Given the description of an element on the screen output the (x, y) to click on. 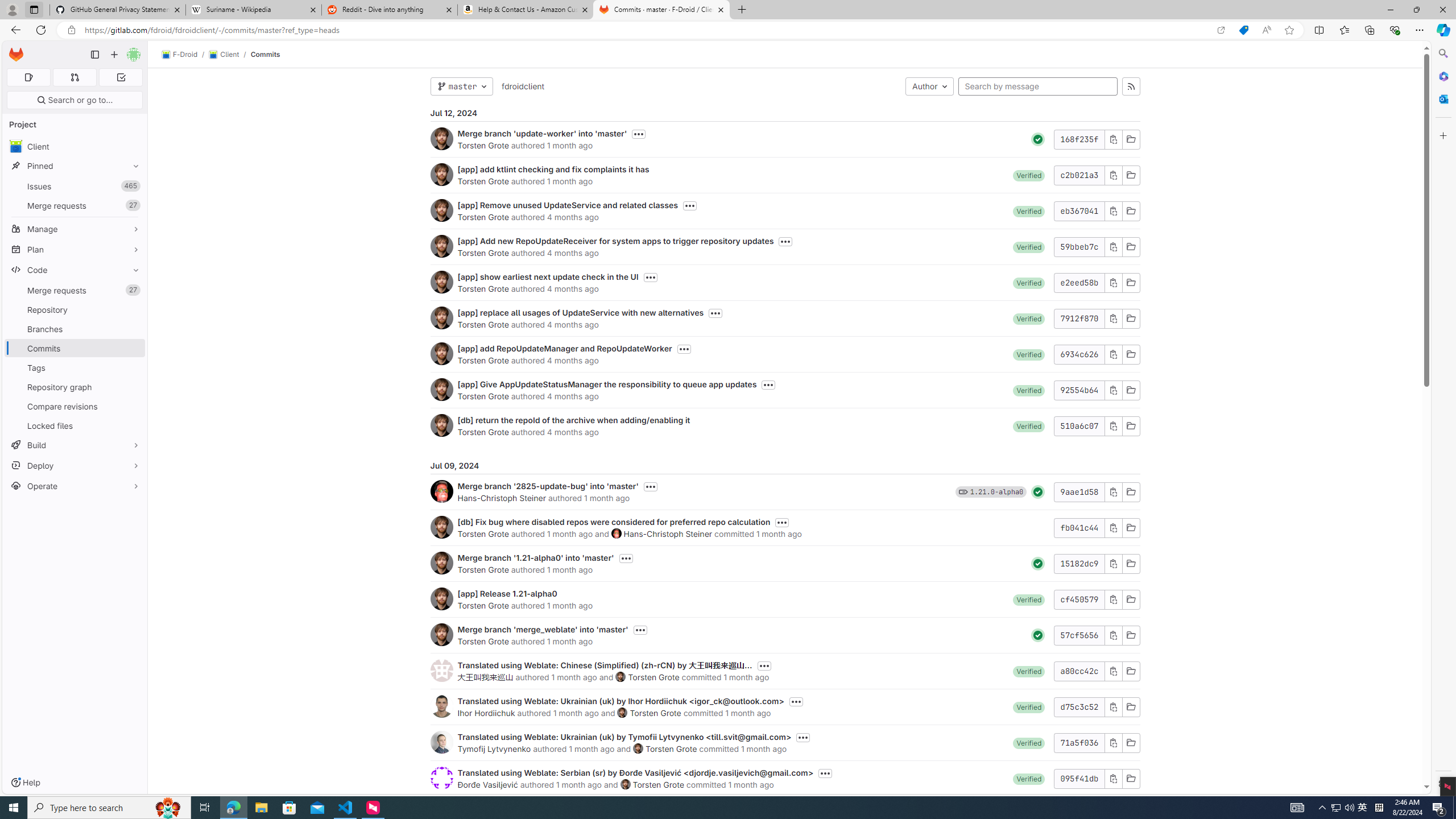
Browse Files (1130, 778)
Tymofij Lytvynenko (494, 748)
Locked files (74, 425)
Commits (265, 53)
Merge branch 'update-worker' into 'master' (542, 133)
Customize (1442, 135)
Manage (74, 228)
Pinned (74, 165)
Back (13, 29)
View site information (70, 29)
Close (1442, 9)
[app] add ktlint checking and fix complaints it has (553, 168)
